Given the description of an element on the screen output the (x, y) to click on. 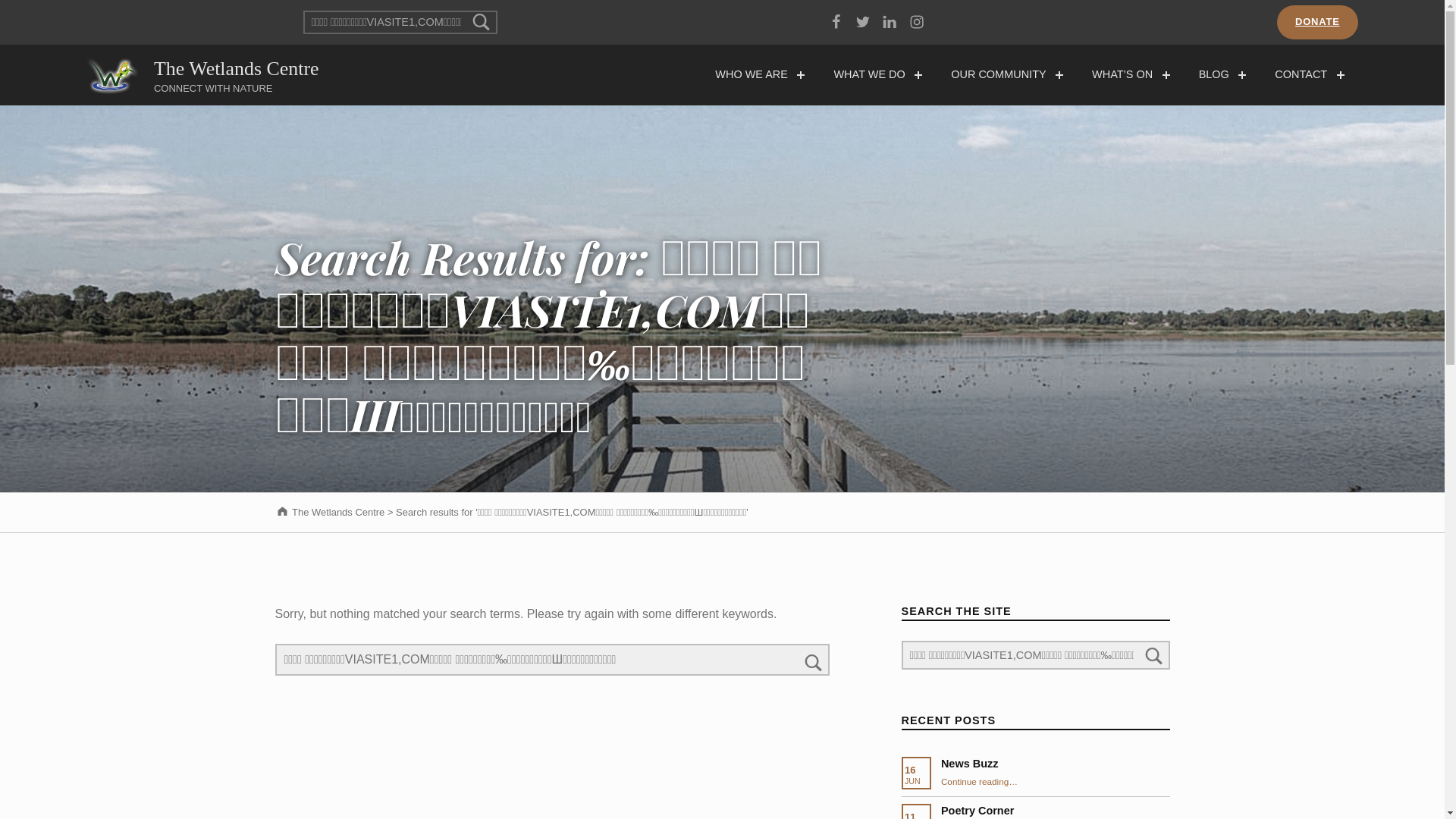
Twitter Element type: text (863, 22)
Search Element type: text (481, 21)
WHO WE ARE Element type: text (753, 74)
Linkedin Element type: text (889, 22)
OUR COMMUNITY Element type: text (1000, 74)
WHAT WE DO Element type: text (871, 74)
Instagram Element type: text (916, 22)
Search Element type: text (1154, 654)
News Buzz Element type: text (969, 763)
Search Element type: text (813, 659)
The Wetlands Centre Element type: text (236, 68)
Facebook Element type: text (836, 22)
DONATE Element type: text (1317, 22)
CONTACT Element type: text (1302, 74)
The Wetlands Centre Element type: text (329, 511)
BLOG Element type: text (1215, 74)
